Given the description of an element on the screen output the (x, y) to click on. 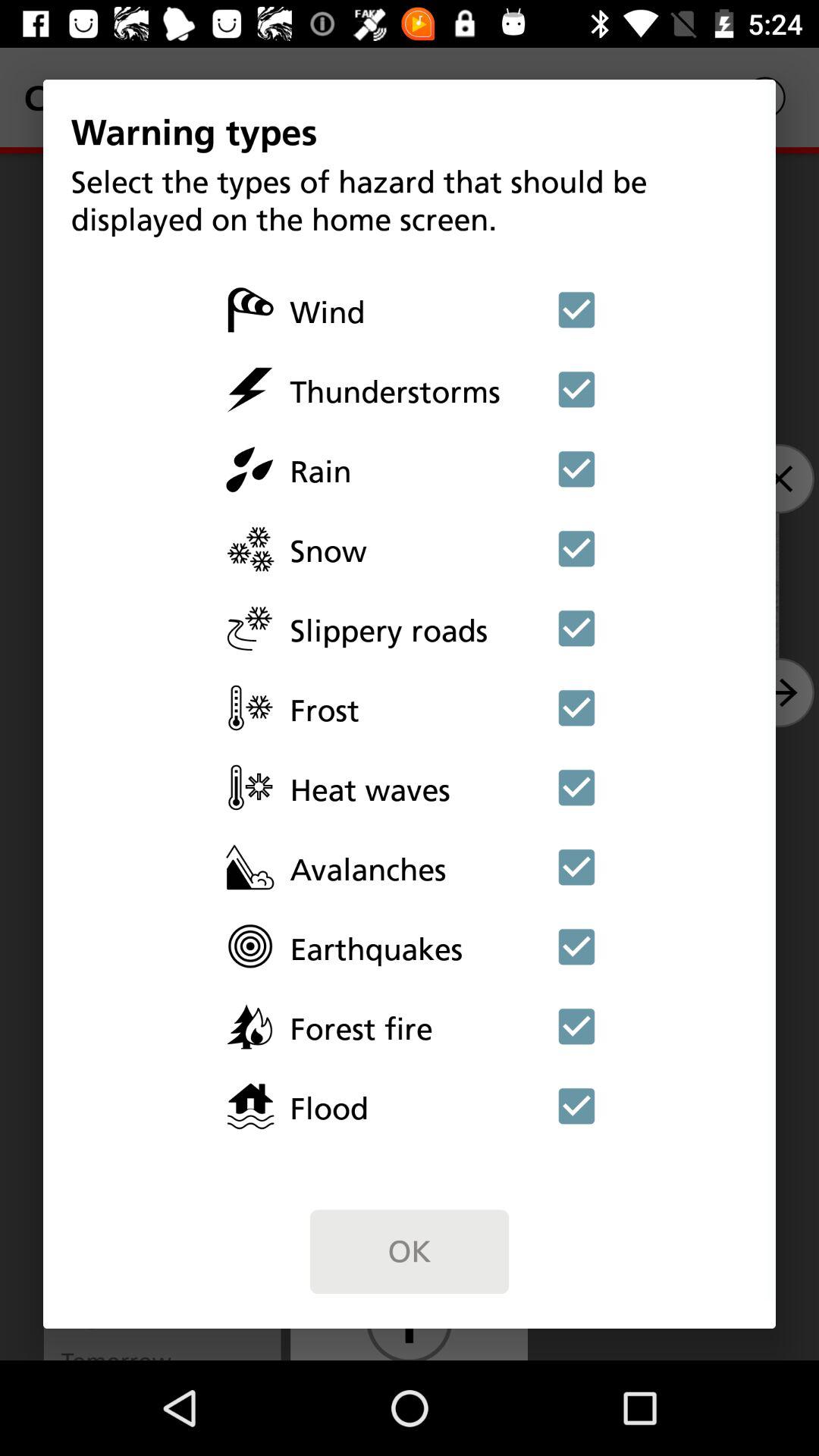
select hazard type (576, 1106)
